Given the description of an element on the screen output the (x, y) to click on. 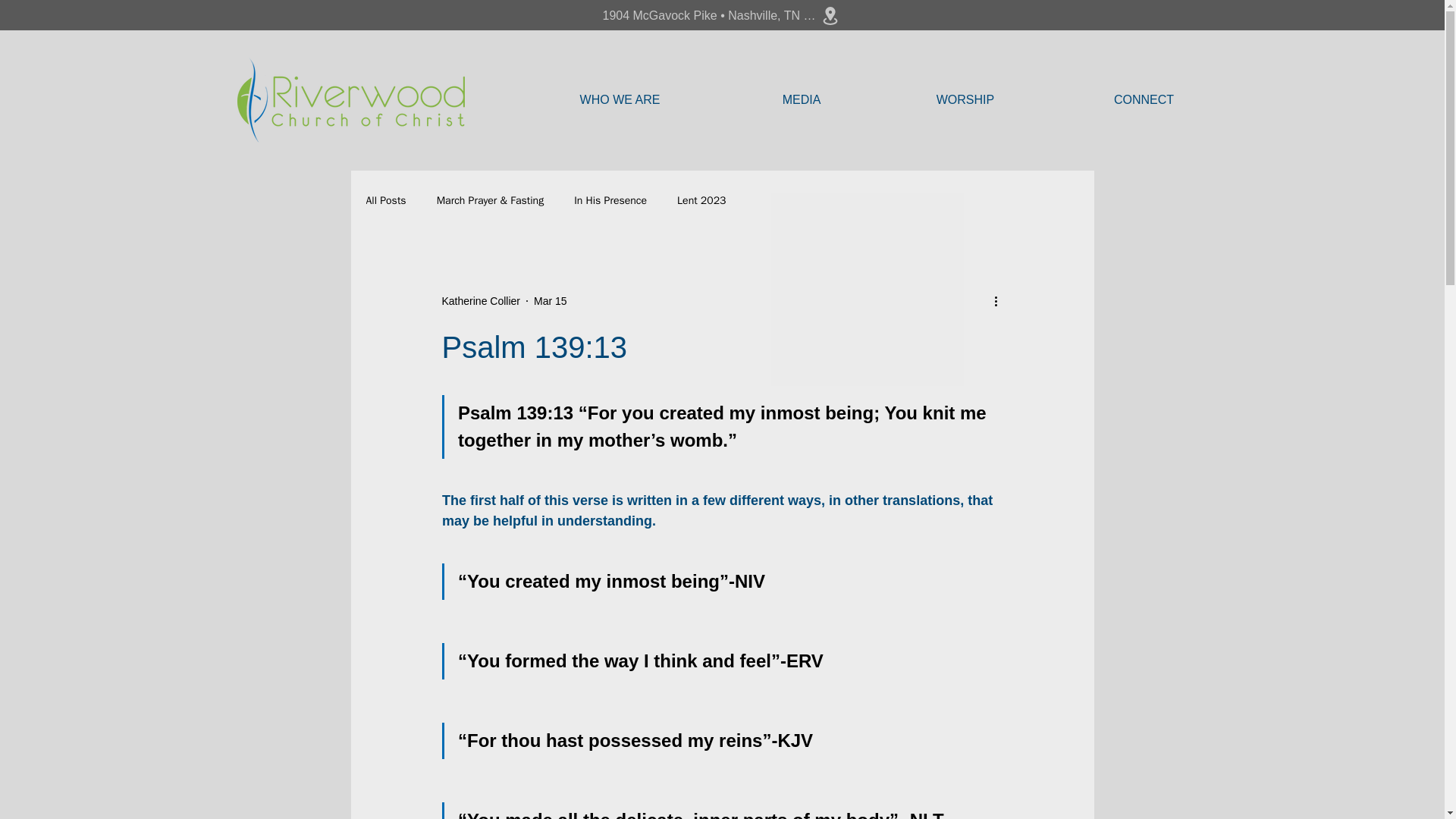
Lent 2023 (701, 201)
Mar 15 (550, 300)
All Posts (385, 201)
Katherine Collier (480, 300)
Katherine Collier (480, 300)
Logo3b.png (349, 99)
In His Presence (609, 201)
